Given the description of an element on the screen output the (x, y) to click on. 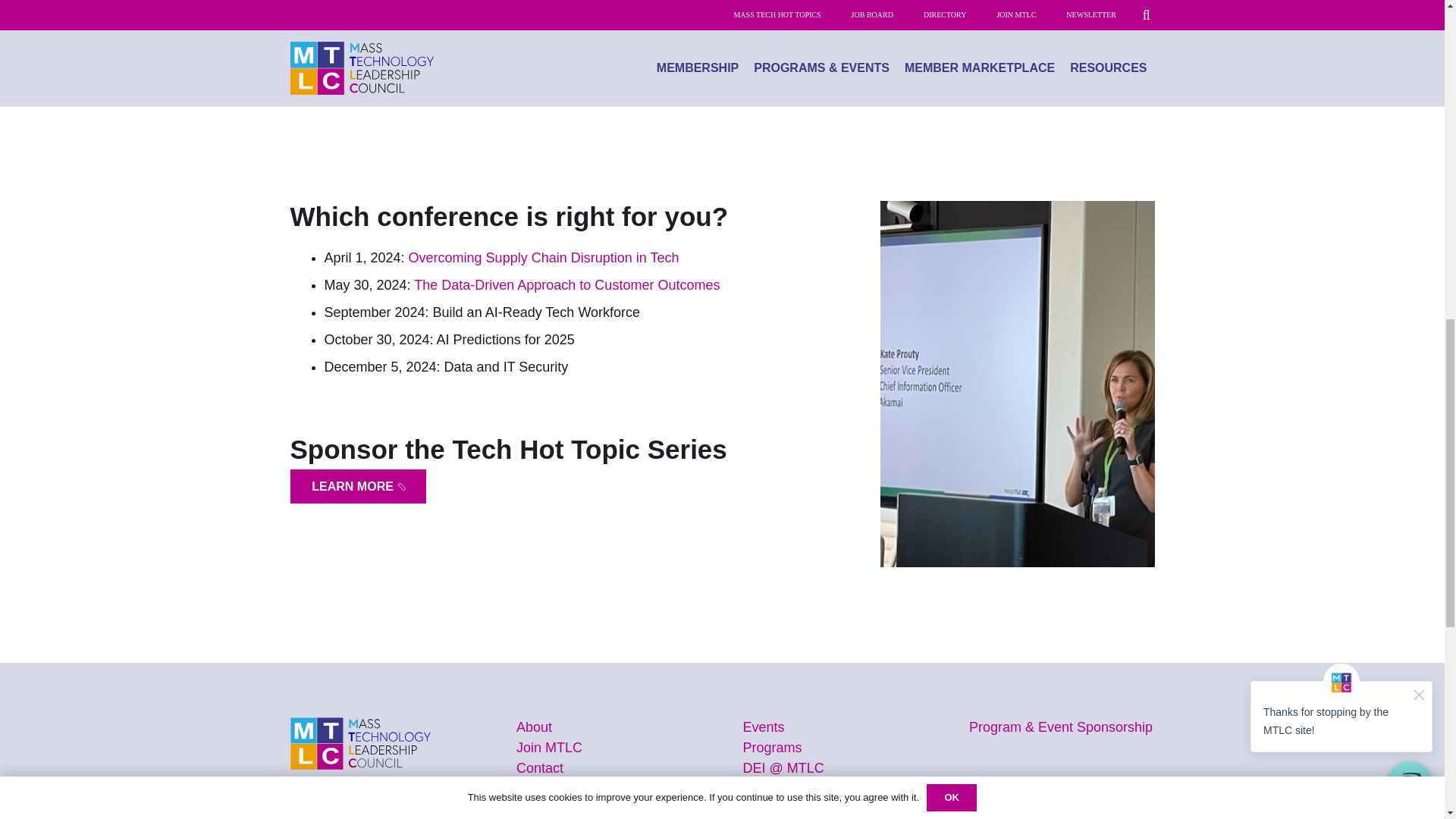
Back to top (1413, 26)
